Given the description of an element on the screen output the (x, y) to click on. 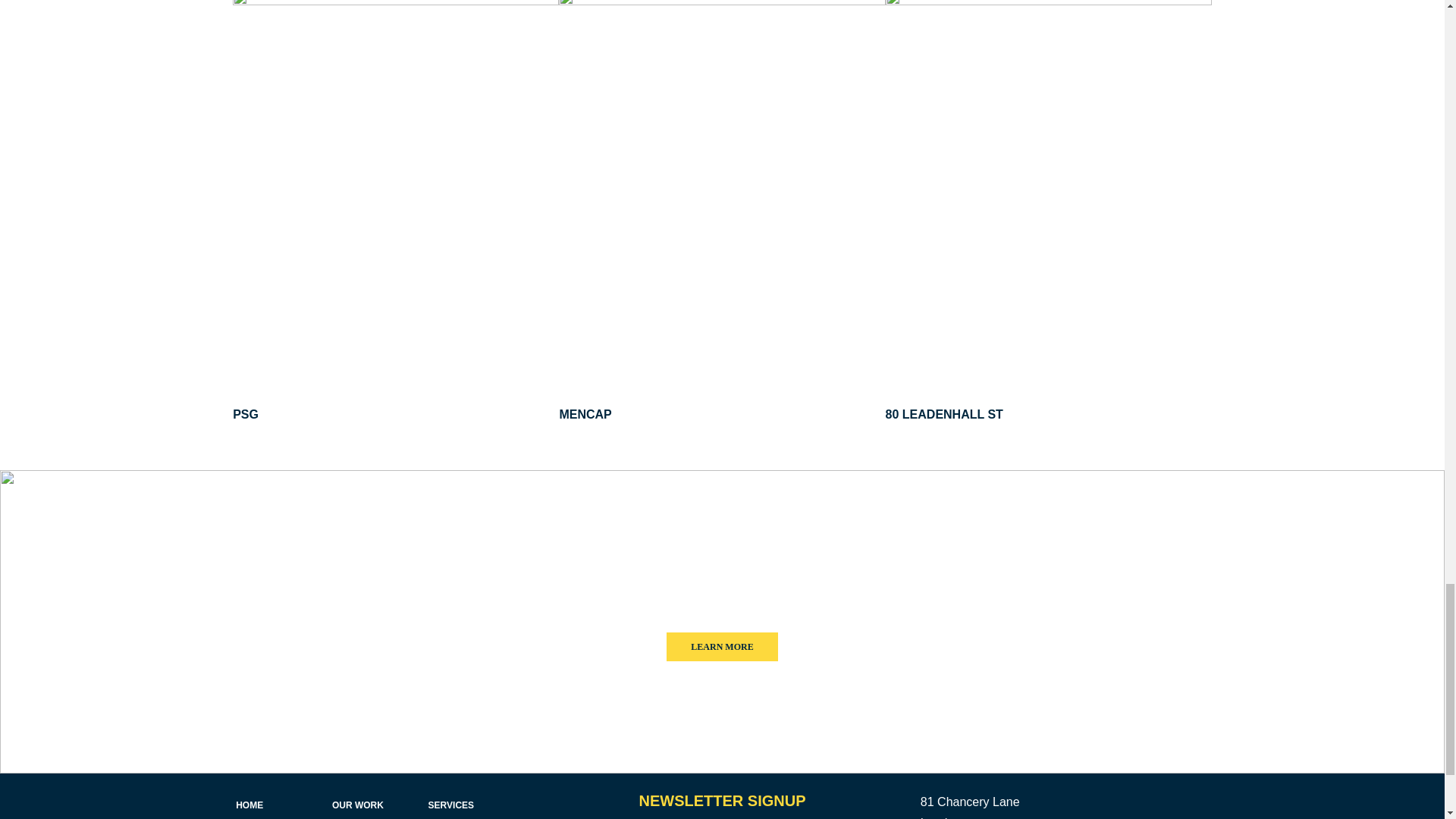
SERVICES (451, 805)
OUR WORK (357, 805)
80 LEADENHALL ST (944, 413)
PSG (245, 413)
HOME (249, 805)
LEARN MORE (721, 646)
MENCAP (585, 413)
